Given the description of an element on the screen output the (x, y) to click on. 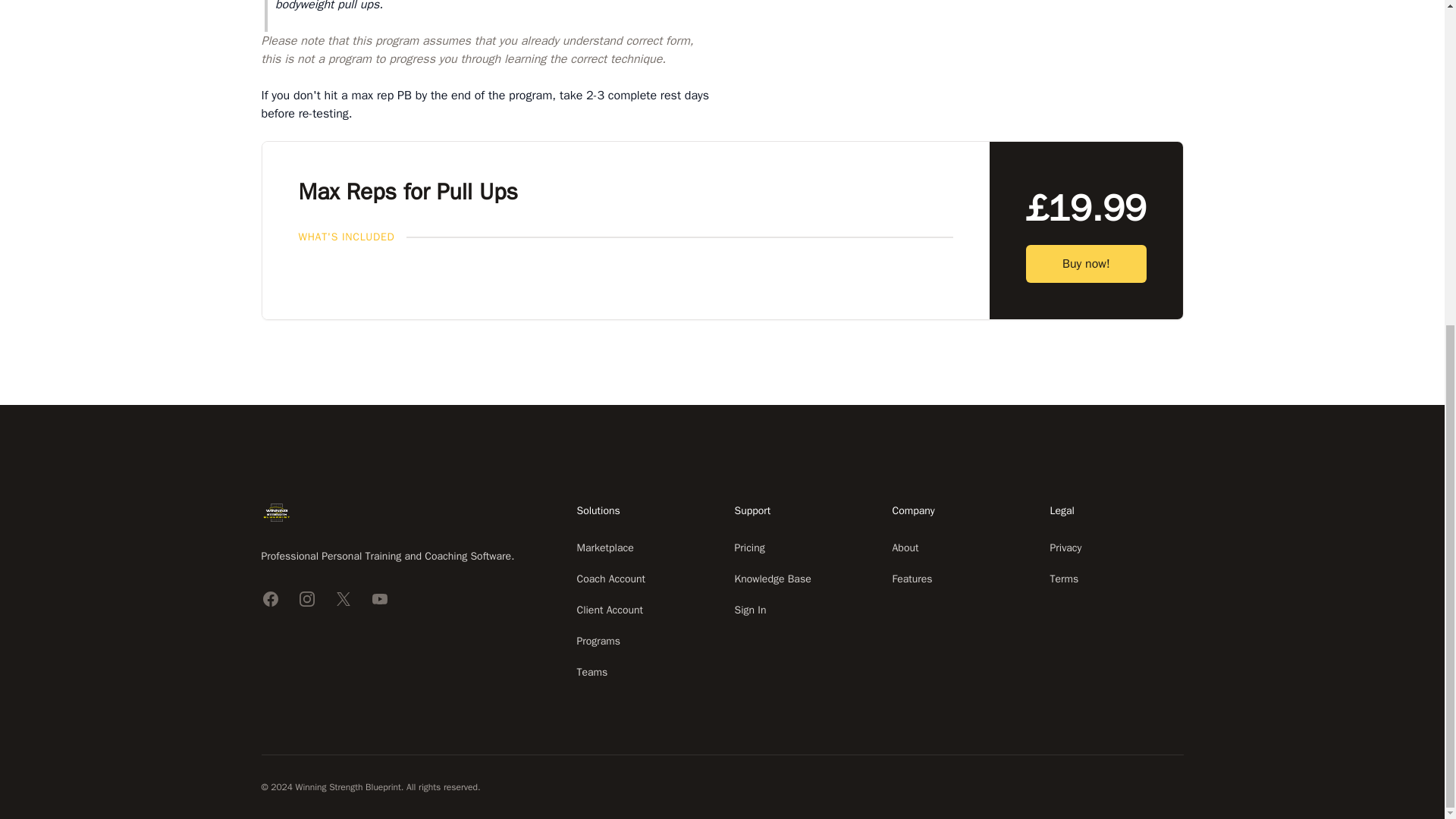
Knowledge Base (771, 578)
YouTube (378, 598)
Programs (598, 640)
About (904, 547)
Instagram (306, 598)
Teams (591, 671)
Privacy (1065, 547)
X (342, 598)
Buy now! (1085, 263)
Sign In (749, 609)
Pricing (748, 547)
Coach Account (610, 578)
Client Account (609, 609)
Terms (1063, 578)
Facebook (269, 598)
